Given the description of an element on the screen output the (x, y) to click on. 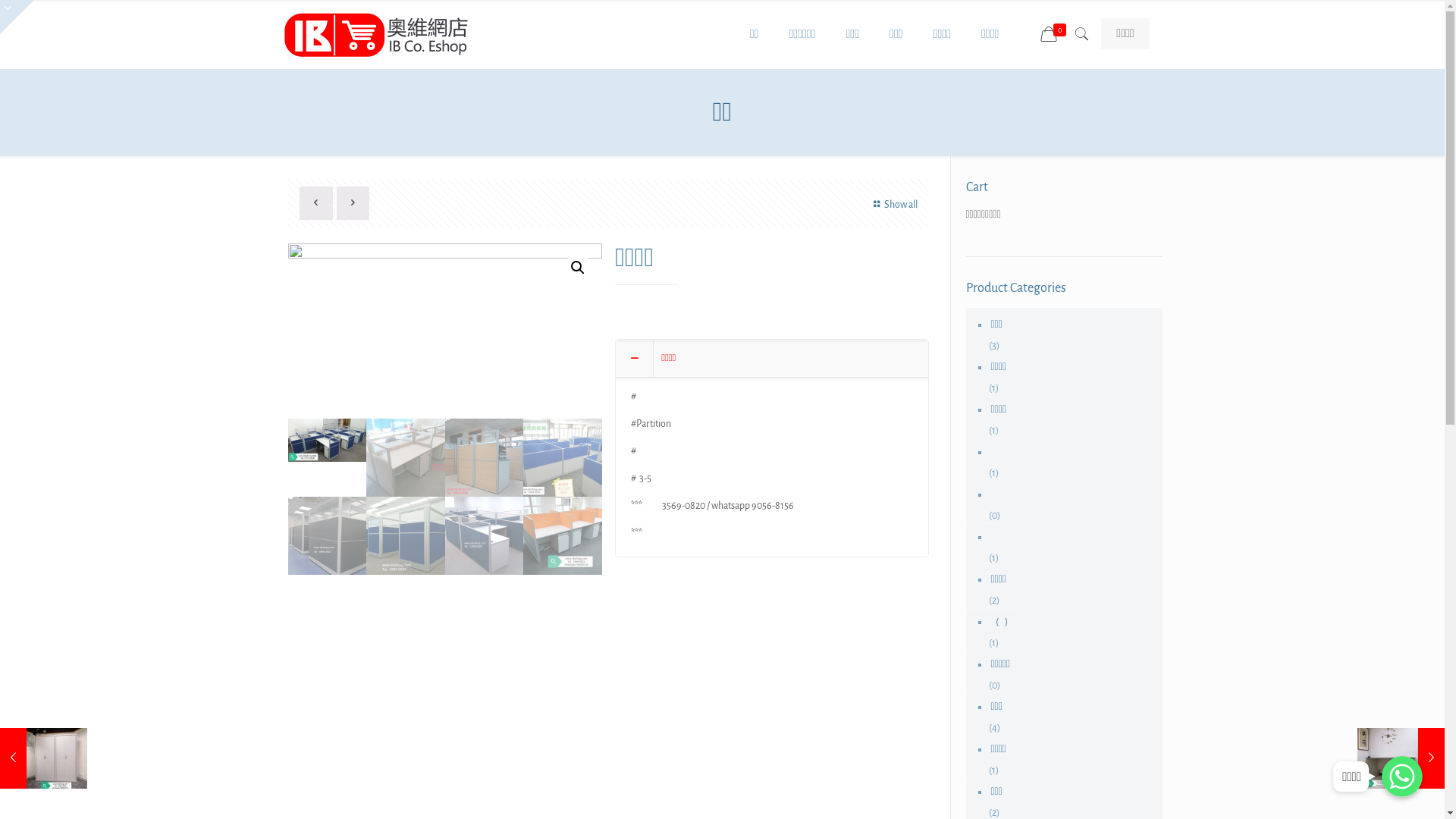
Show all Element type: text (893, 204)
0 Element type: text (1054, 34)
shuiking.com Element type: hover (376, 34)
WhatsApp Element type: text (1401, 776)
Partition 2 (1) Element type: hover (445, 330)
